Given the description of an element on the screen output the (x, y) to click on. 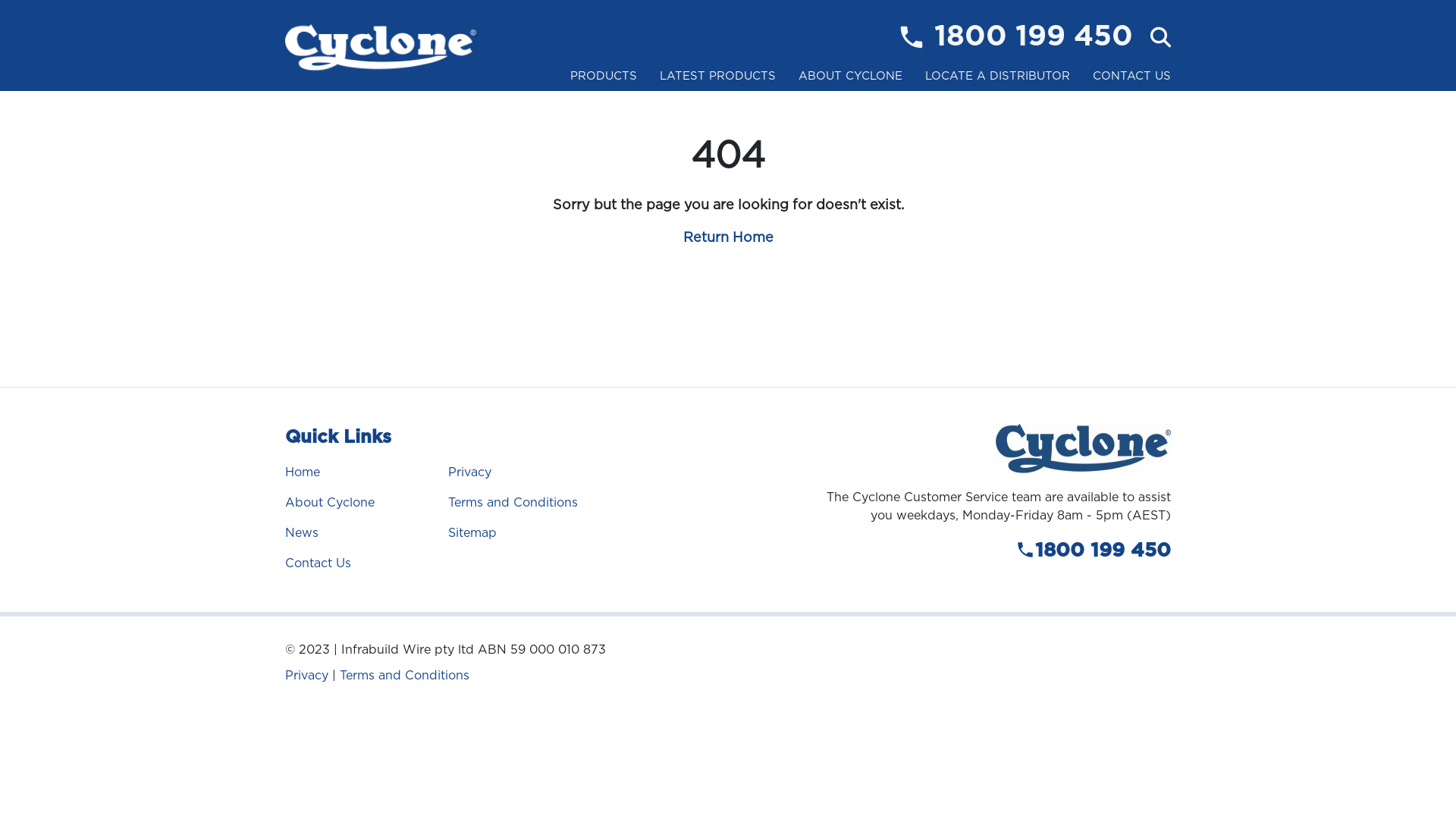
Home Element type: text (302, 471)
Return Home Element type: text (727, 236)
CONTACT US Element type: text (1131, 75)
ABOUT CYCLONE Element type: text (850, 75)
LOCATE A DISTRIBUTOR Element type: text (997, 75)
About Cyclone Element type: text (329, 502)
Terms and Conditions Element type: text (512, 502)
Terms and Conditions Element type: text (404, 675)
PRODUCTS Element type: text (603, 75)
Animal Mesh & Netting Element type: text (603, 115)
Contact Us Element type: text (318, 562)
Privacy Element type: text (306, 675)
1800 199 450 Element type: text (1033, 36)
LATEST PRODUCTS Element type: text (717, 75)
Gates Element type: text (603, 107)
Product Catalogue Element type: text (850, 107)
News Element type: text (301, 532)
1800 199 450 Element type: text (993, 550)
Sitemap Element type: text (471, 532)
Privacy Element type: text (468, 471)
